Given the description of an element on the screen output the (x, y) to click on. 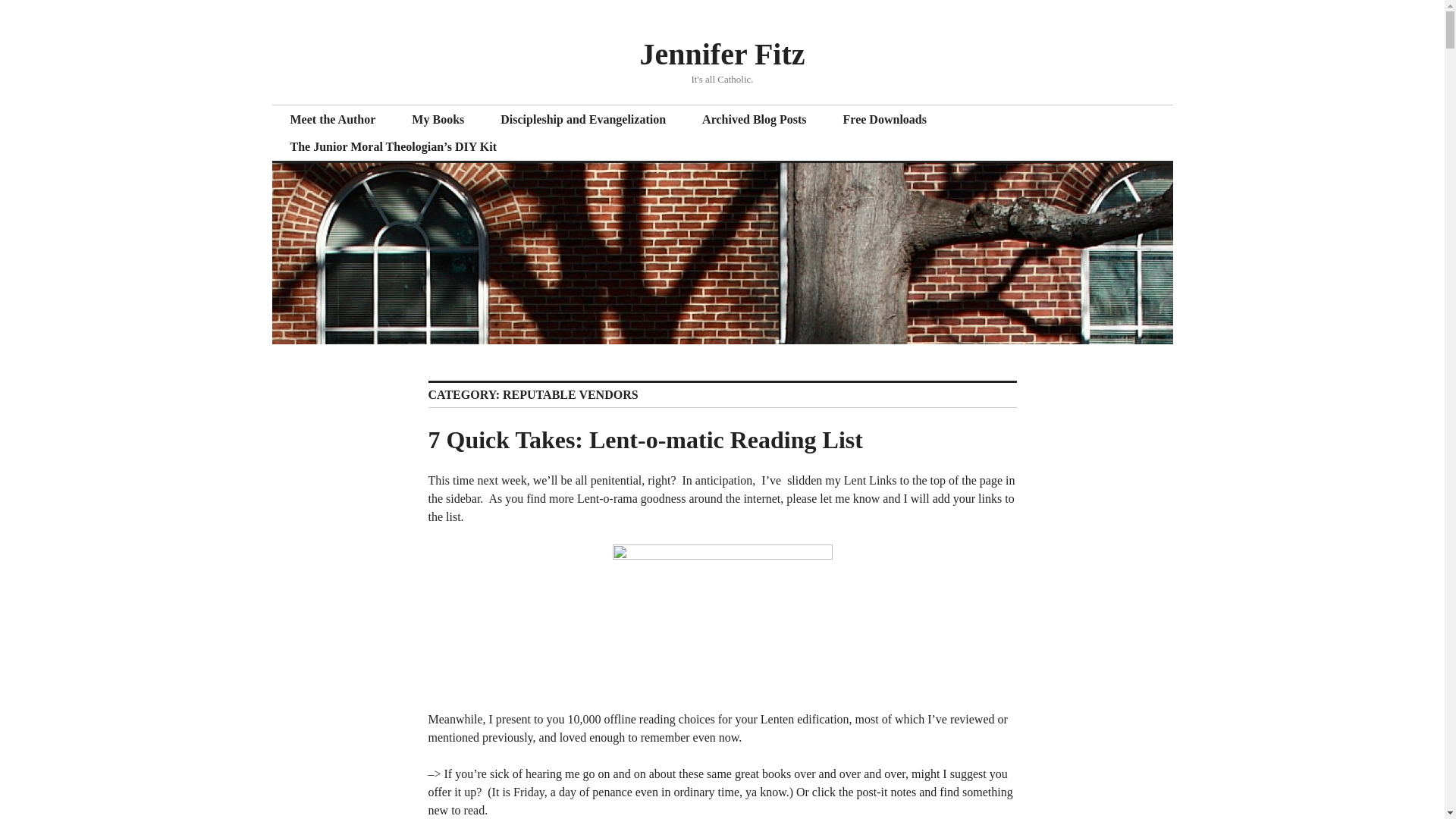
Discipleship and Evangelization (582, 119)
7 Quck Takes Friday (722, 618)
Archived Blog Posts (754, 119)
Meet the Author (331, 119)
Free Downloads (884, 119)
7 Quick Takes: Lent-o-matic Reading List (644, 439)
Jennifer Fitz (722, 53)
My Books (437, 119)
